Given the description of an element on the screen output the (x, y) to click on. 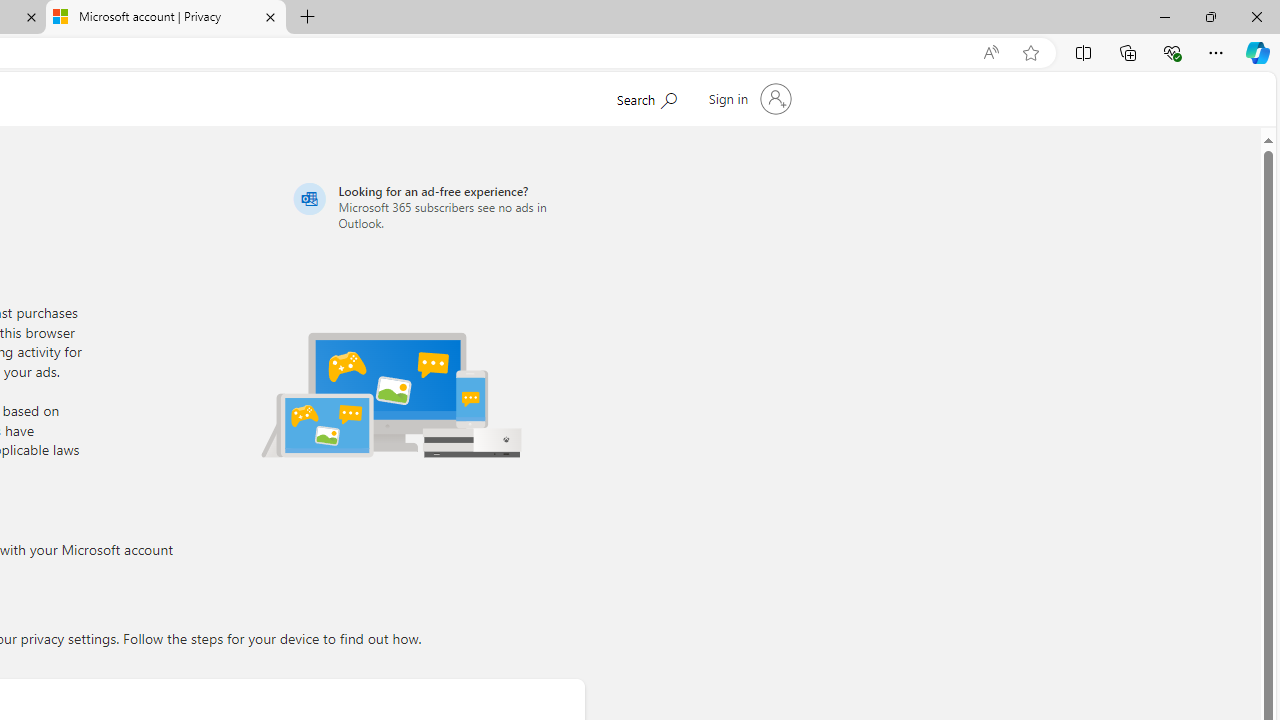
Sign in to your account (748, 98)
